Given the description of an element on the screen output the (x, y) to click on. 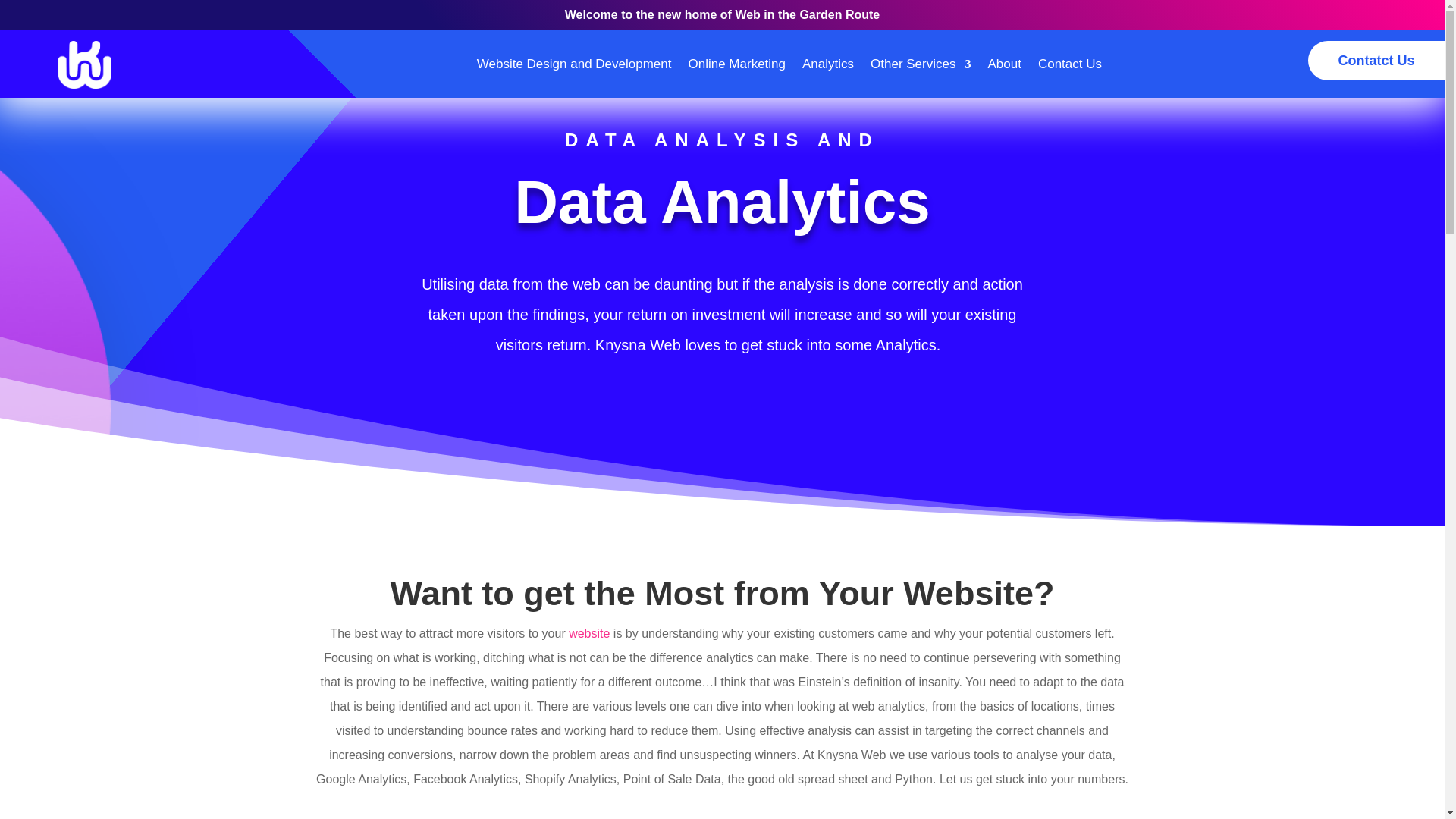
About (1003, 64)
website (589, 633)
Online Marketing (736, 64)
Contact Us (1070, 64)
Analytics (827, 64)
Website Design and Development (574, 64)
Other Services (920, 64)
